Given the description of an element on the screen output the (x, y) to click on. 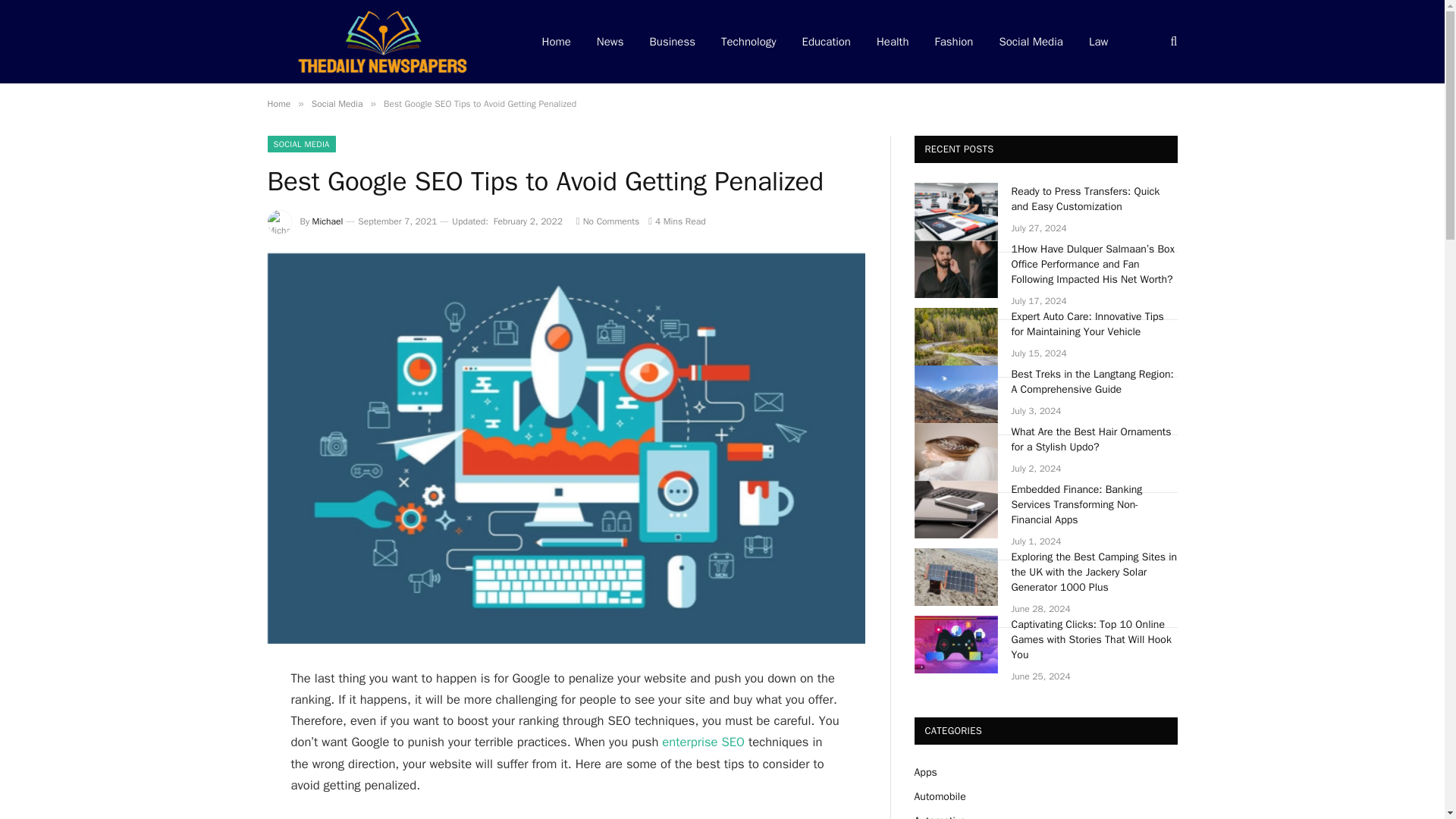
Social Media (336, 103)
Posts by Michael (328, 221)
Ready to Press Transfers: Quick and Easy Customization (1094, 199)
Technology (748, 41)
SOCIAL MEDIA (300, 143)
Education (826, 41)
thedailynewspapers (384, 41)
No Comments (607, 221)
enterprise SEO (703, 741)
Michael (328, 221)
Home (277, 103)
Ready to Press Transfers: Quick and Easy Customization (955, 211)
Social Media (1030, 41)
